Given the description of an element on the screen output the (x, y) to click on. 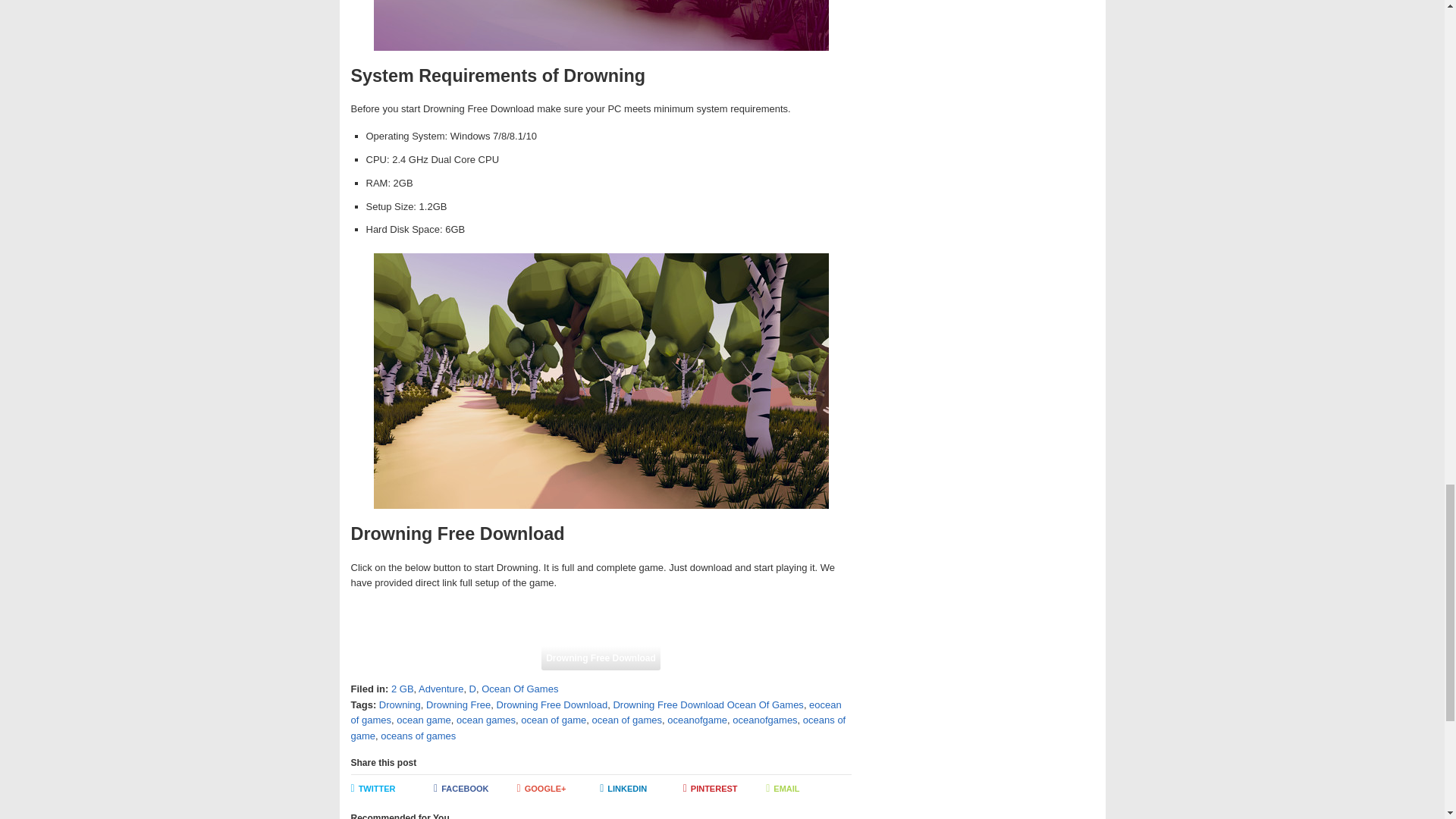
2 GB (402, 688)
Drowning Free (458, 704)
Adventure (441, 688)
Drowning (399, 704)
Size: 1.2GB (601, 658)
Drowning Free Download (601, 658)
Drowning Free Download (551, 704)
Ocean Of Games (519, 688)
